Given the description of an element on the screen output the (x, y) to click on. 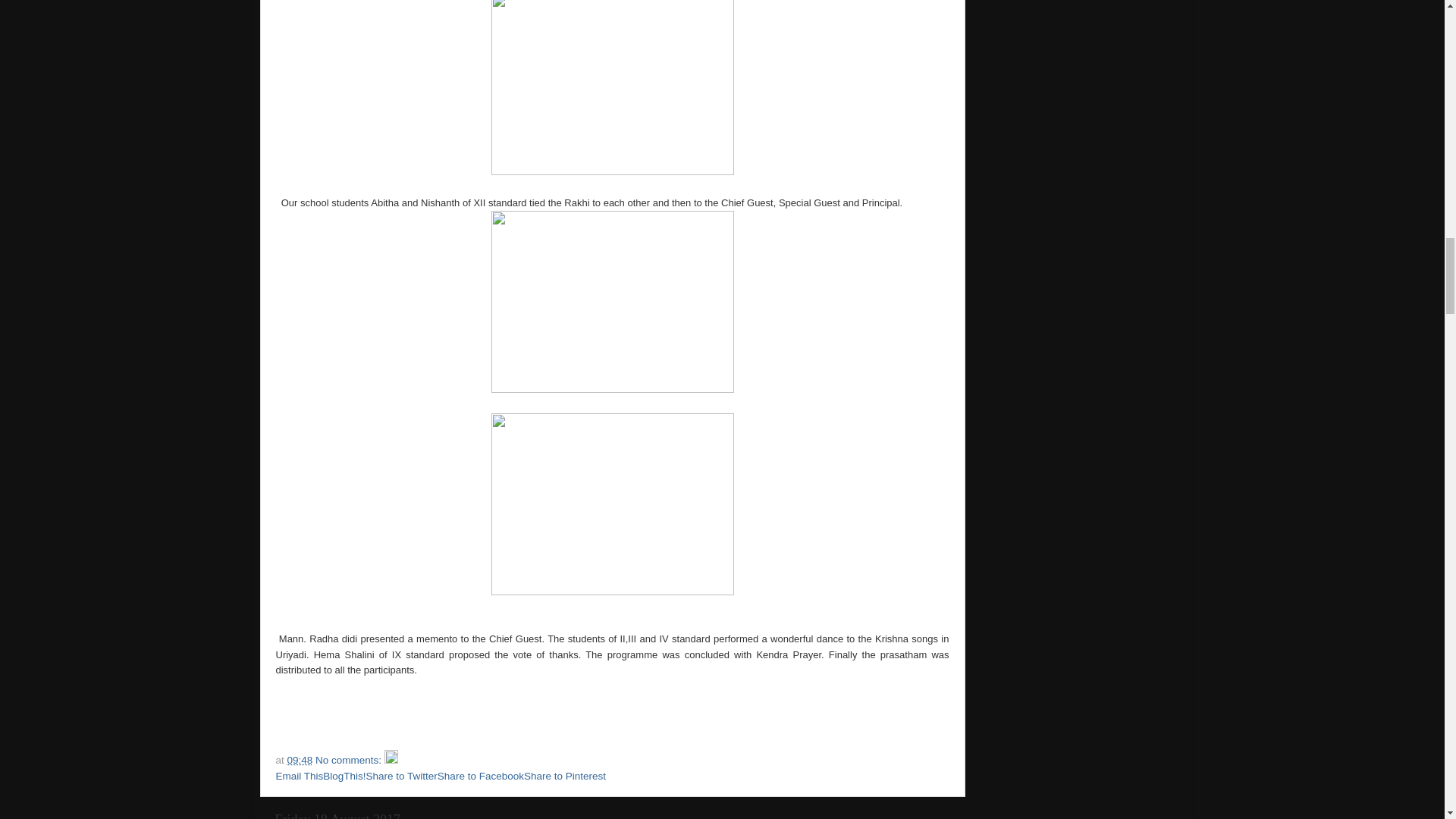
Share to Pinterest (564, 776)
Email This (299, 776)
permanent link (299, 759)
No comments: (349, 759)
BlogThis! (344, 776)
BlogThis! (344, 776)
09:48 (299, 759)
Share to Facebook (481, 776)
Edit Post (390, 759)
Email This (299, 776)
